Given the description of an element on the screen output the (x, y) to click on. 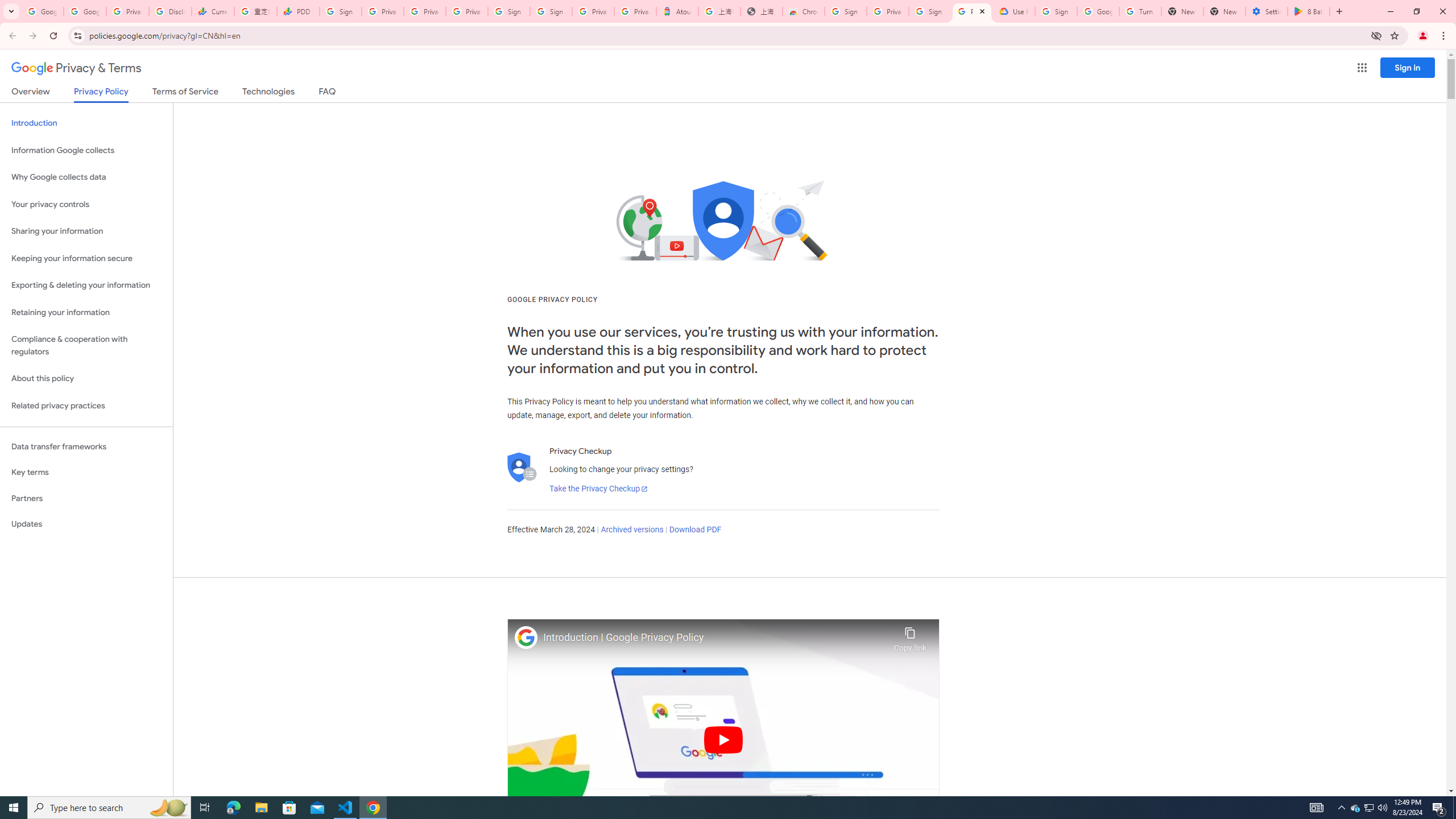
Atour Hotel - Google hotels (676, 11)
Photo image of Google (526, 636)
Related privacy practices (86, 405)
New Tab (1224, 11)
Exporting & deleting your information (86, 284)
Key terms (86, 472)
Privacy Checkup (424, 11)
